Given the description of an element on the screen output the (x, y) to click on. 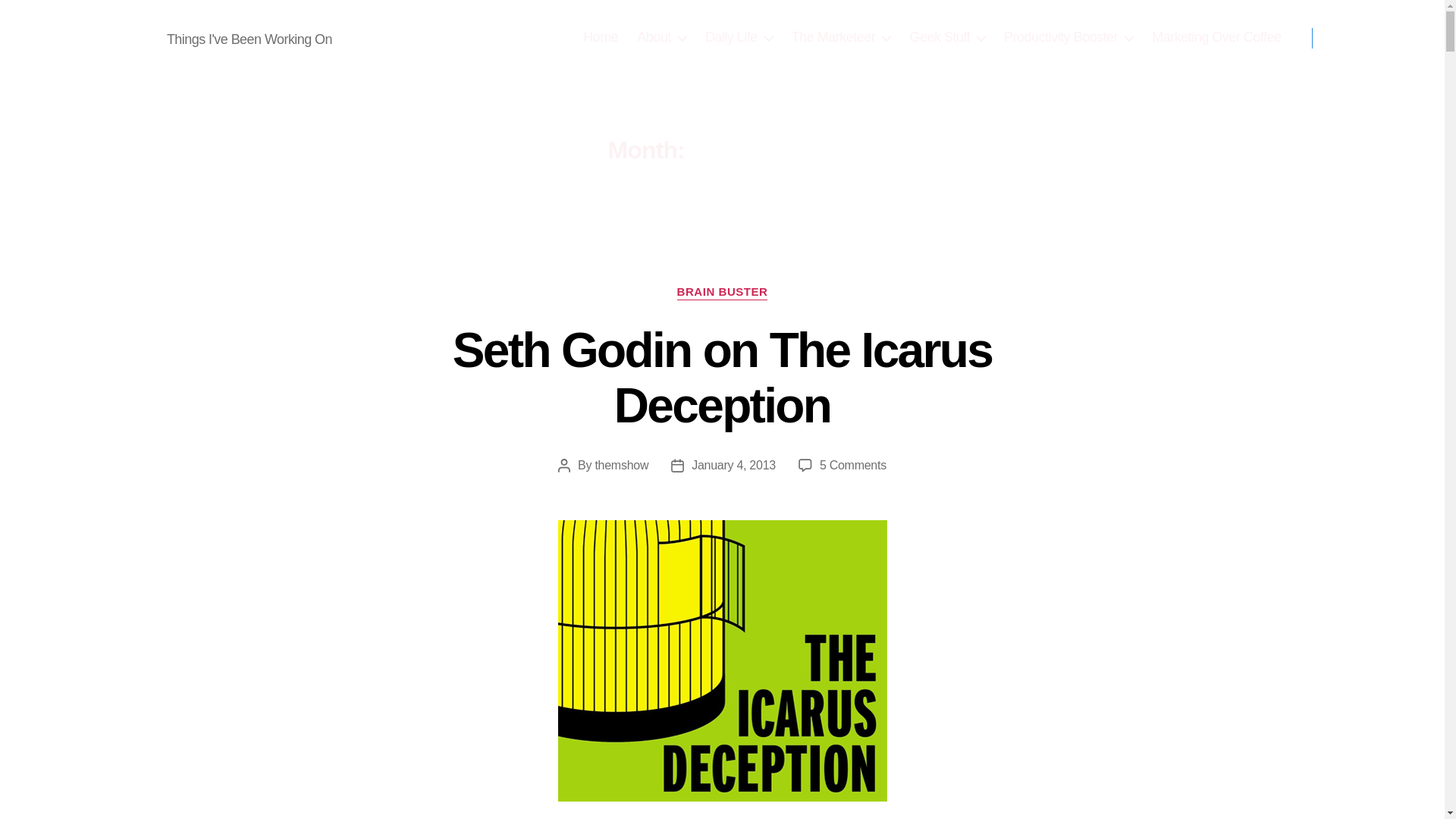
Productivity Booster (1068, 37)
Daily Life (738, 37)
The Marketeer (841, 37)
Search (1350, 37)
Marketing Over Coffee (1216, 37)
About (661, 37)
JW5150 (116, 37)
Geek Stuff (946, 37)
Home (600, 37)
